Given the description of an element on the screen output the (x, y) to click on. 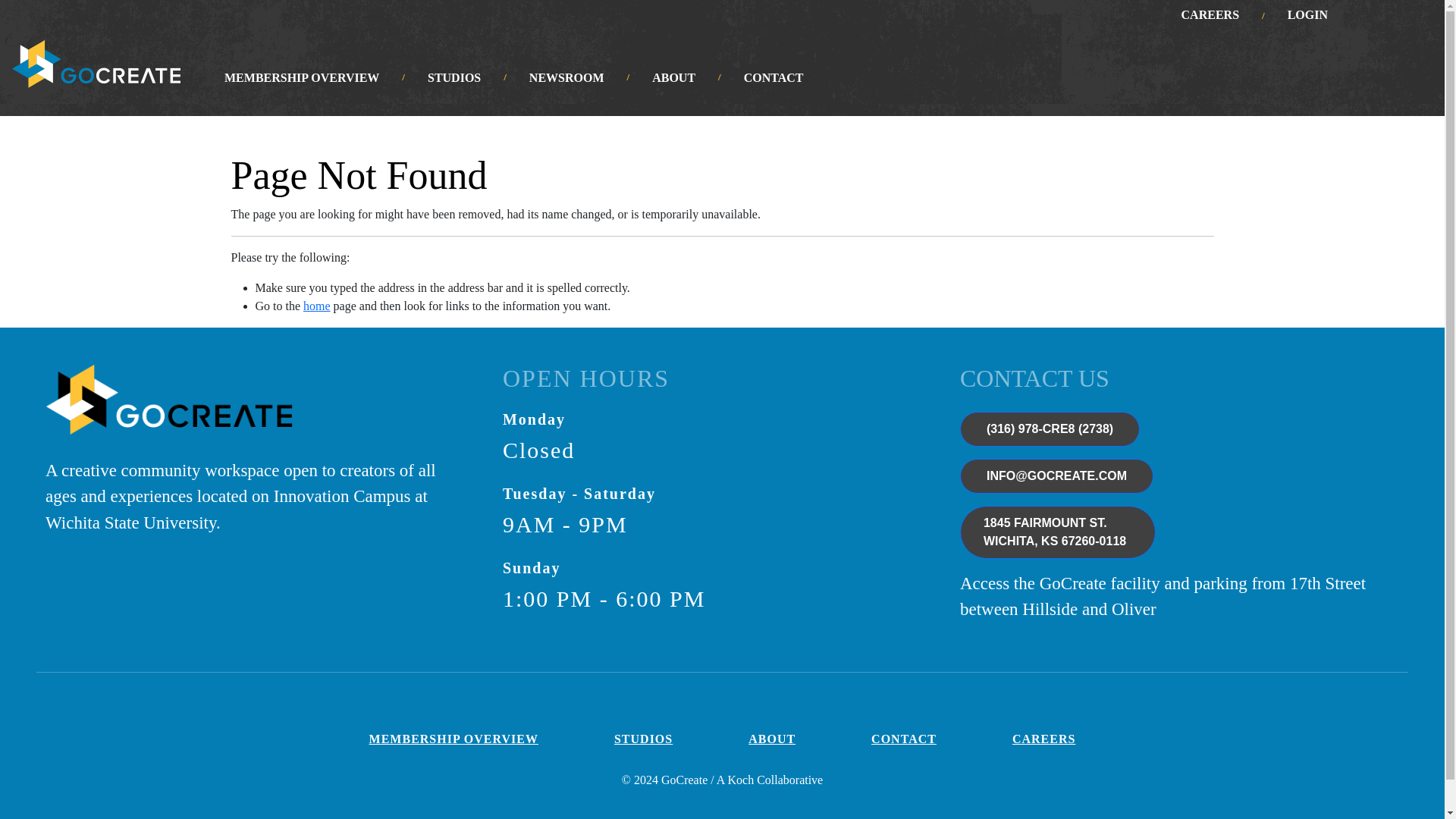
GoCreate (168, 410)
LOGIN (1307, 15)
ABOUT (674, 77)
home (316, 305)
NEWSROOM (566, 77)
STUDIOS (1057, 532)
MEMBERSHIP OVERVIEW (453, 77)
MEMBERSHIP OVERVIEW (453, 738)
GoCreate (301, 77)
CONTACT (95, 63)
CAREERS (773, 77)
